Given the description of an element on the screen output the (x, y) to click on. 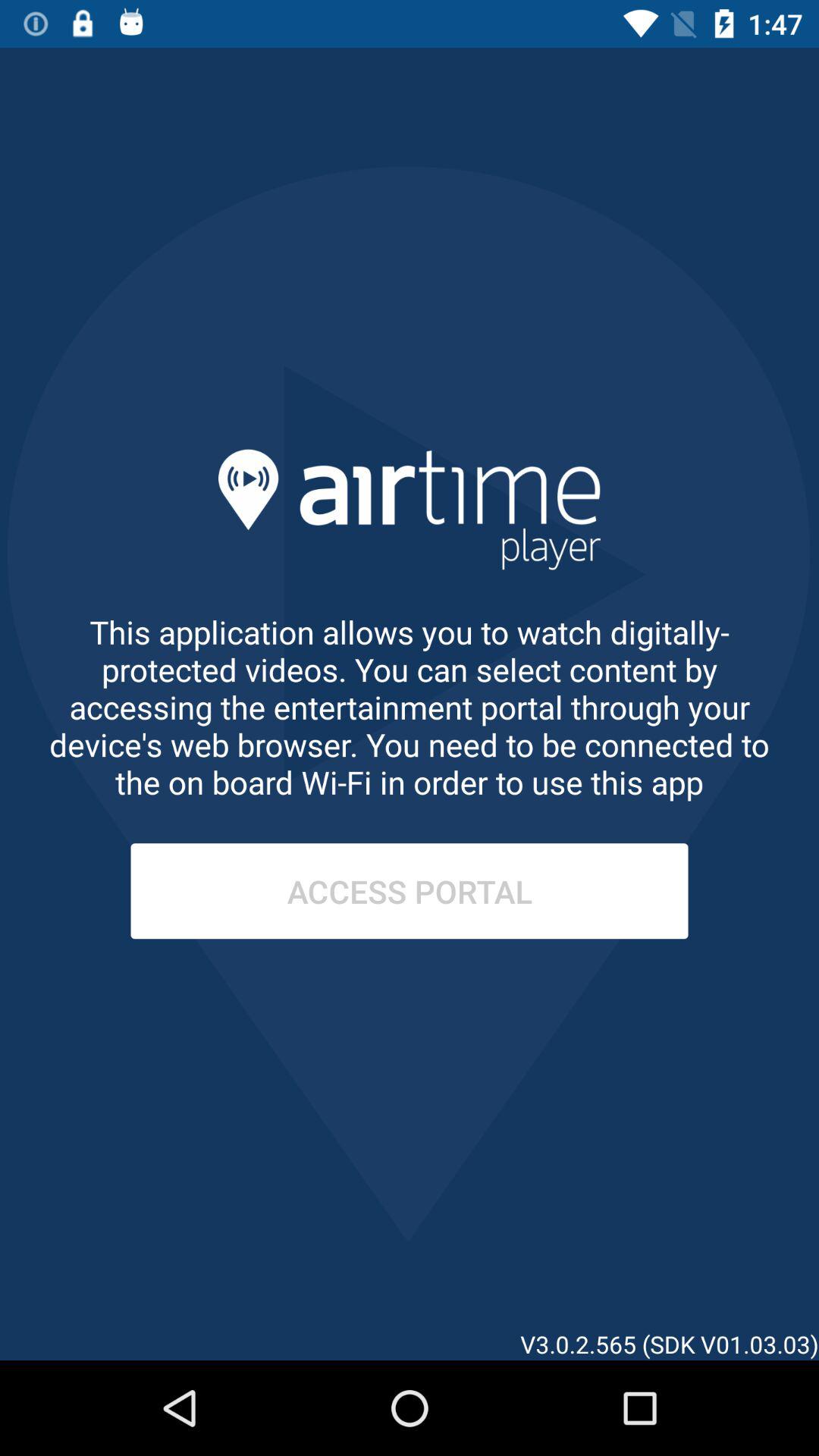
turn on the access portal item (409, 891)
